Given the description of an element on the screen output the (x, y) to click on. 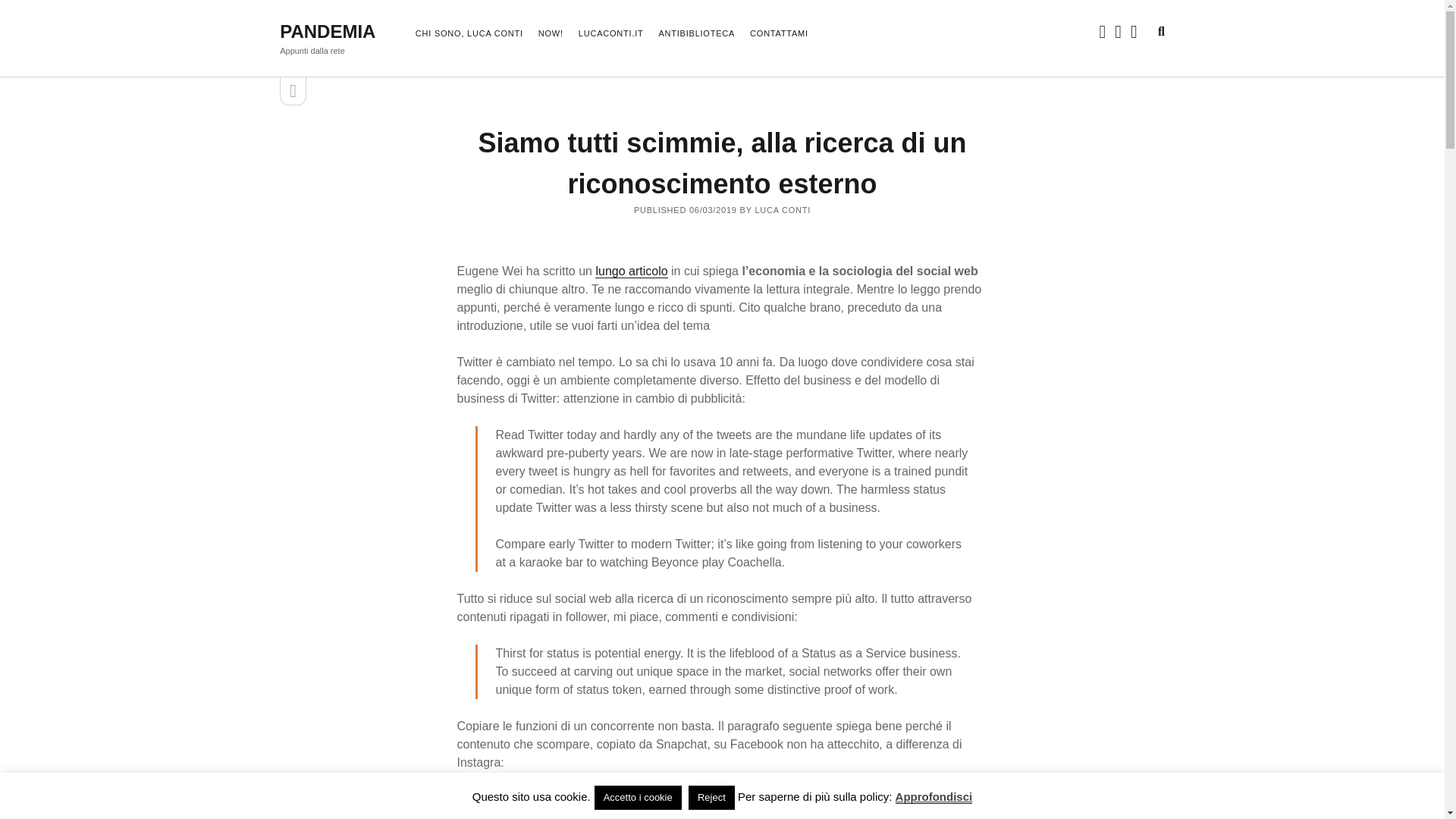
LUCACONTI.IT (610, 33)
ANTIBIBLIOTECA (696, 33)
CONTATTAMI (778, 33)
PANDEMIA (327, 31)
lungo articolo (630, 271)
NOW! (550, 33)
CHI SONO, LUCA CONTI (468, 33)
open sidebar (292, 90)
